Given the description of an element on the screen output the (x, y) to click on. 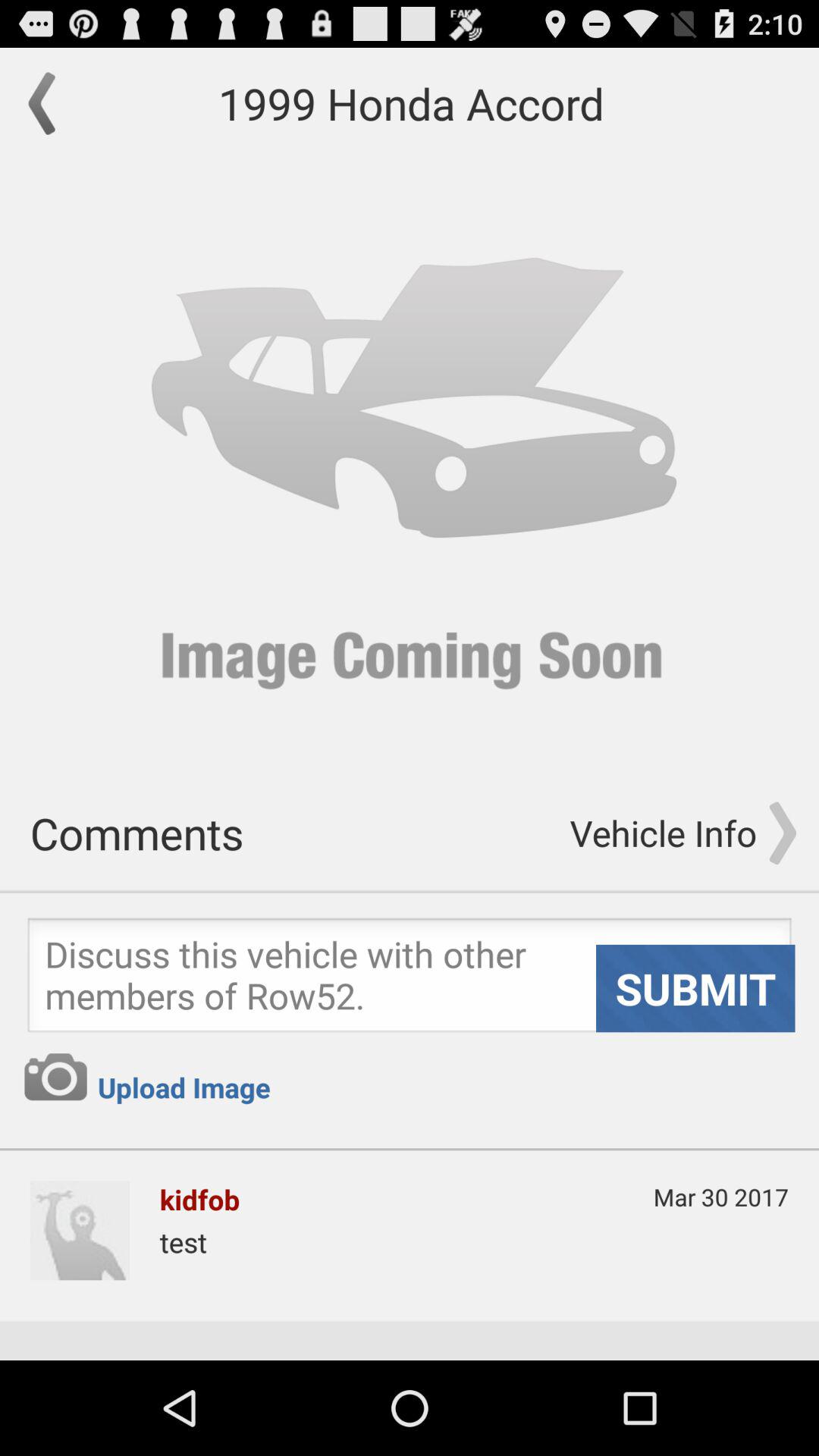
click the item next to upload image icon (55, 1076)
